Given the description of an element on the screen output the (x, y) to click on. 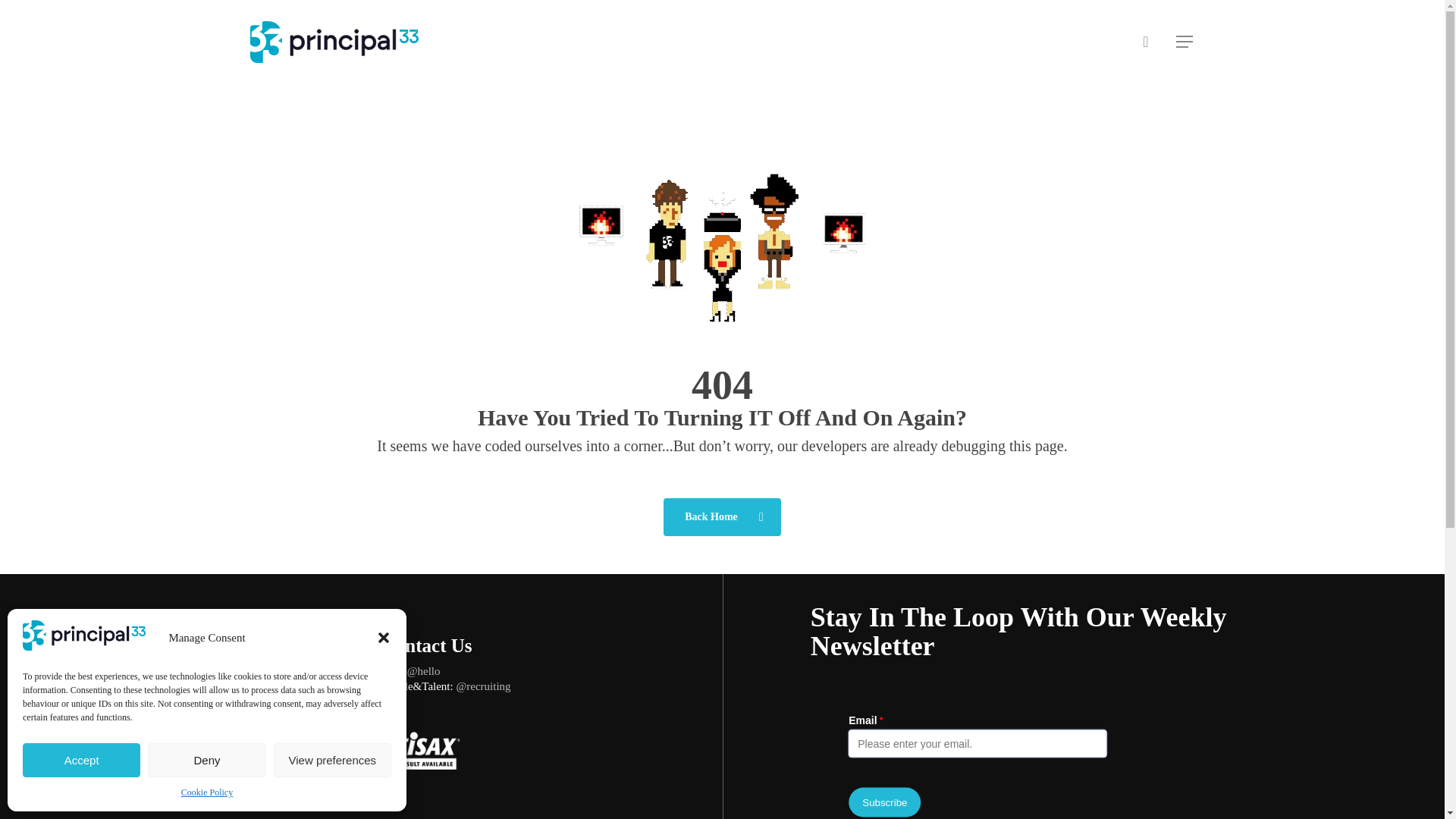
Deny (206, 759)
recruiting (488, 686)
hello (429, 671)
search (1145, 41)
Cookie Policy (206, 792)
Back Home (721, 516)
Accept (81, 759)
View preferences (332, 759)
Menu (1184, 41)
